Given the description of an element on the screen output the (x, y) to click on. 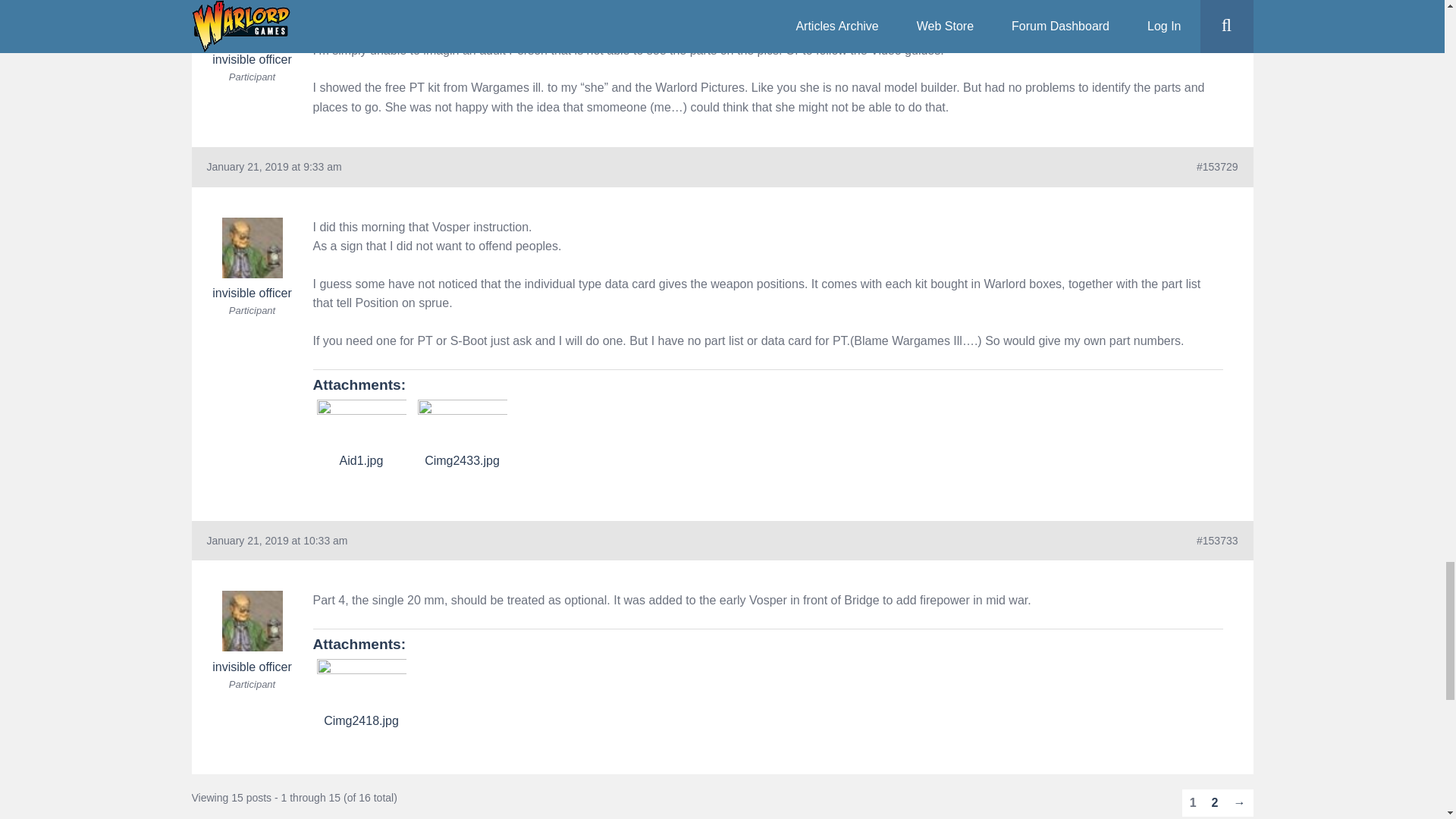
View invisible officer's profile (251, 33)
View invisible officer's profile (251, 258)
Aid1.jpg (361, 424)
Cimg2433.jpg (461, 424)
